Given the description of an element on the screen output the (x, y) to click on. 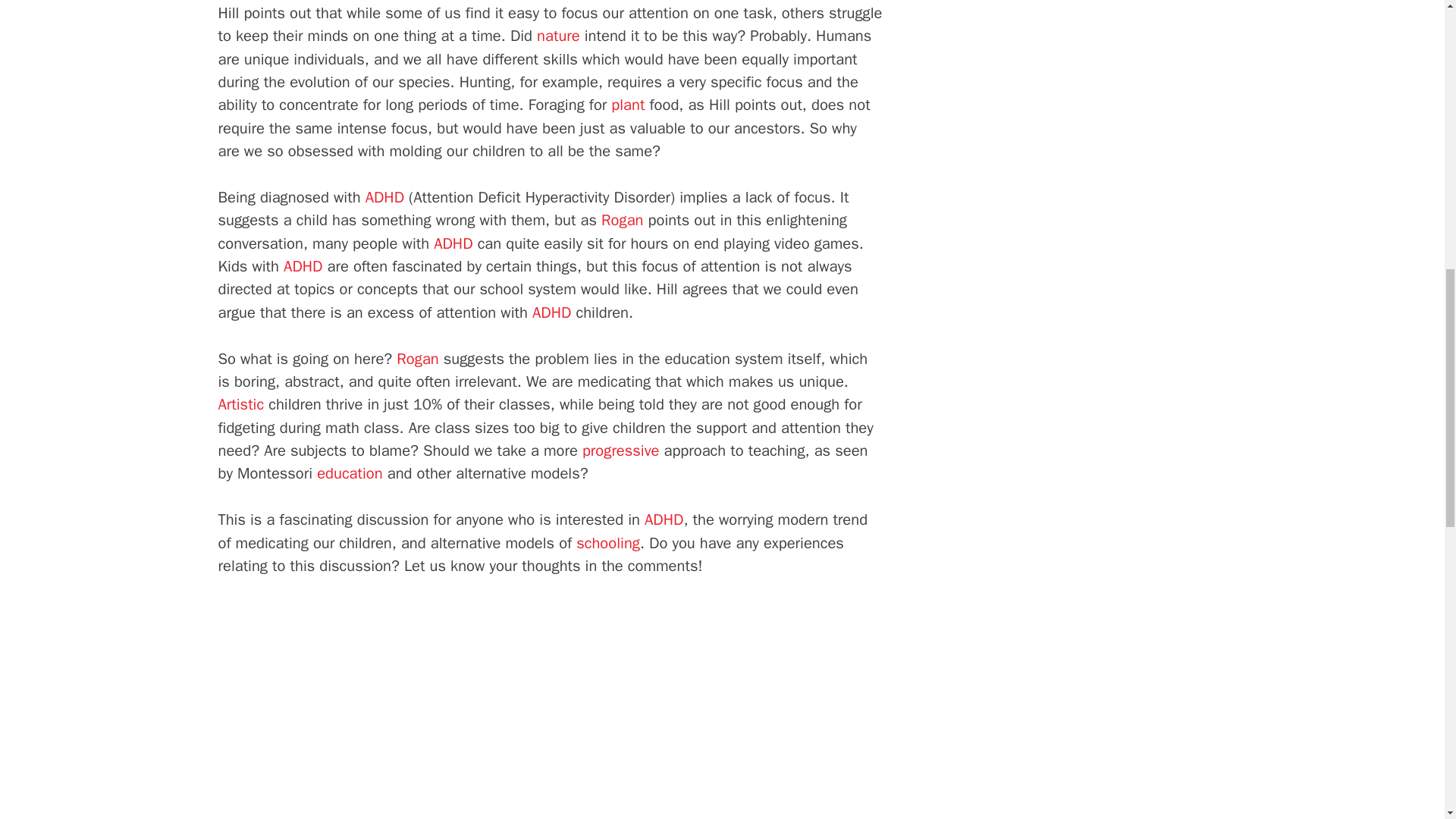
This Is How Education Kills Creativity (241, 404)
8 Ways to Get Your Child off of Ritalin (452, 243)
This is What Happens When Kids Leave Traditional Education (620, 450)
Tylenol is Now Linked to ADHD (302, 266)
The Truth About Human Nature (558, 35)
